Given the description of an element on the screen output the (x, y) to click on. 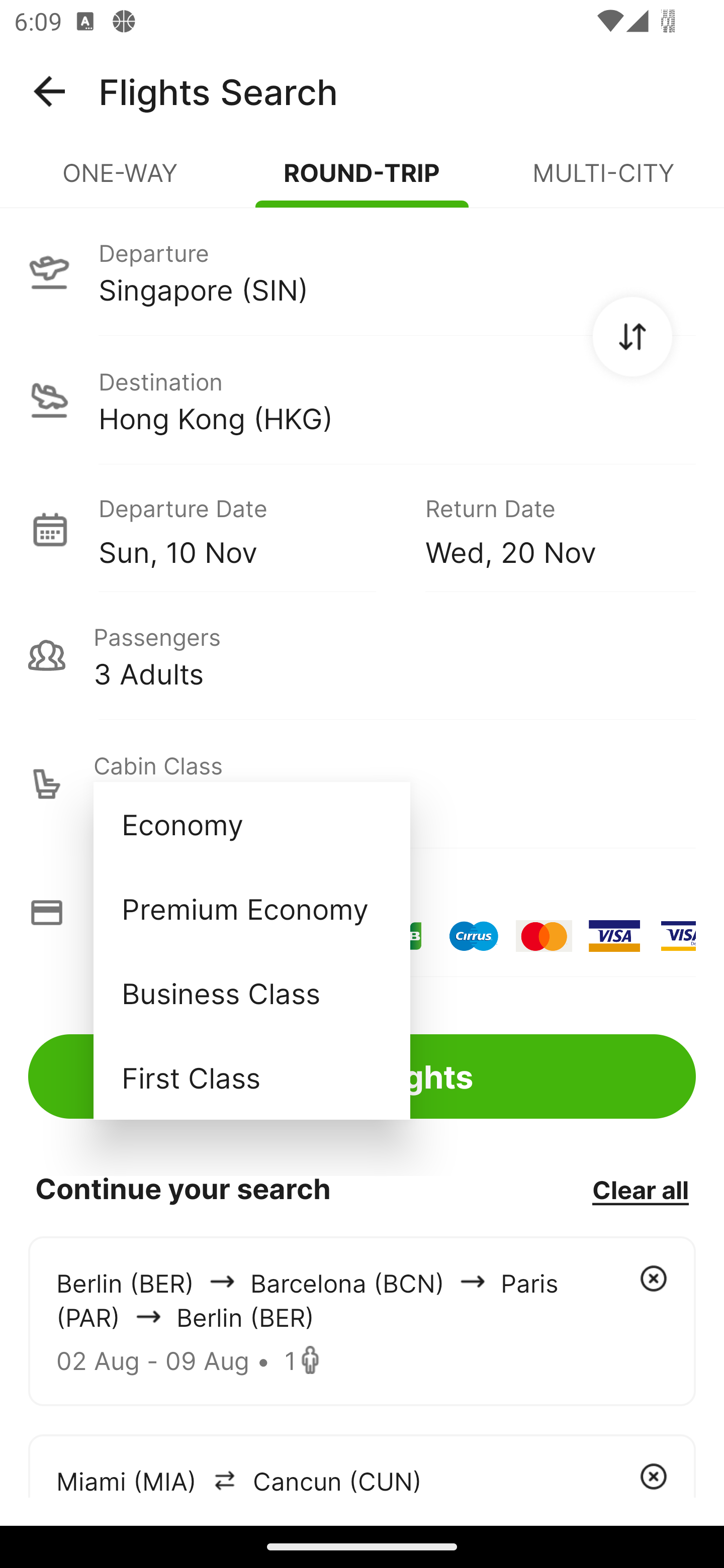
Economy (251, 824)
Premium Economy (251, 908)
Business Class (251, 992)
First Class (251, 1076)
